Given the description of an element on the screen output the (x, y) to click on. 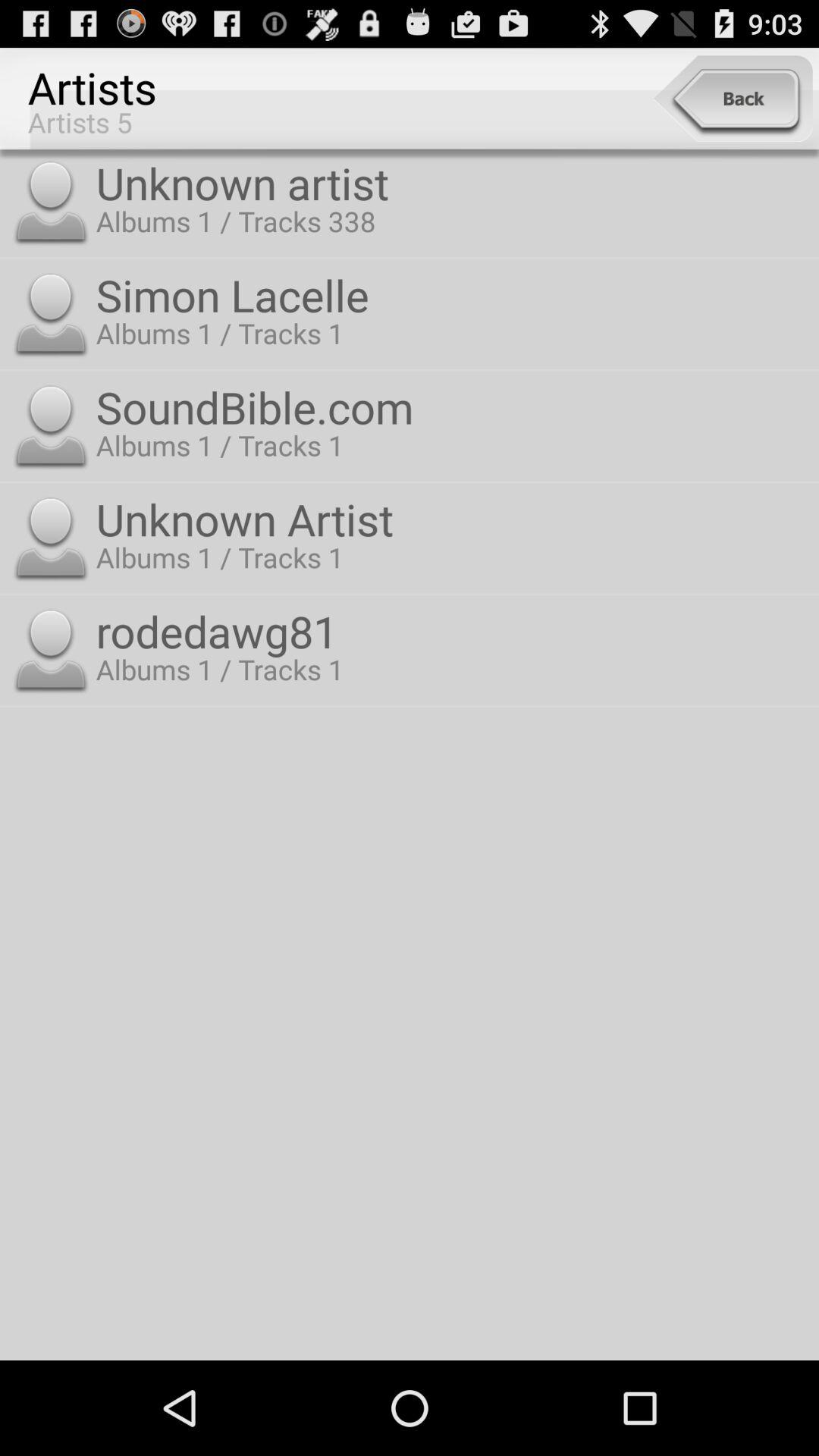
switch to back button on top right side (732, 98)
